Given the description of an element on the screen output the (x, y) to click on. 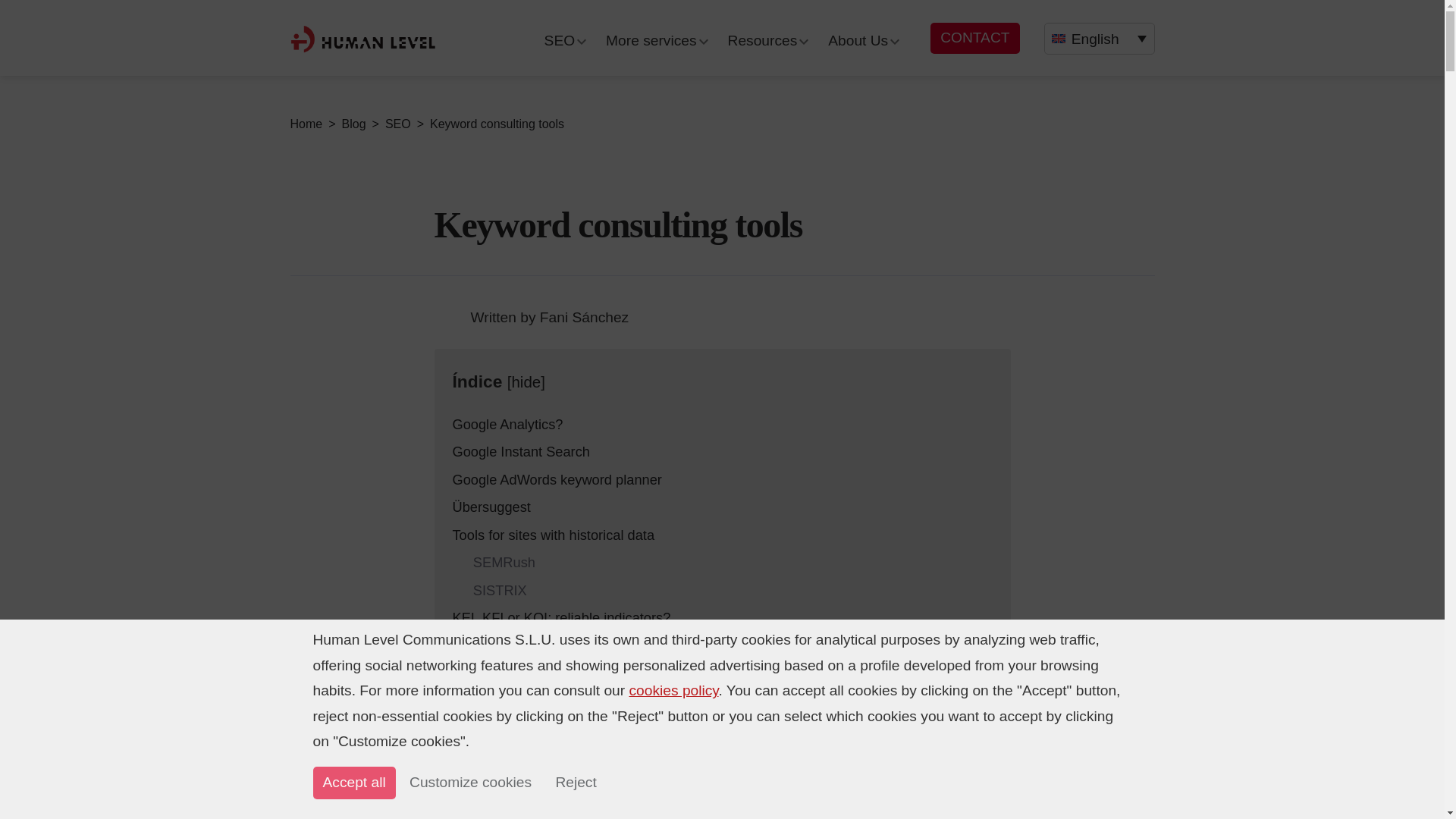
SEO (559, 40)
More services (650, 40)
